Given the description of an element on the screen output the (x, y) to click on. 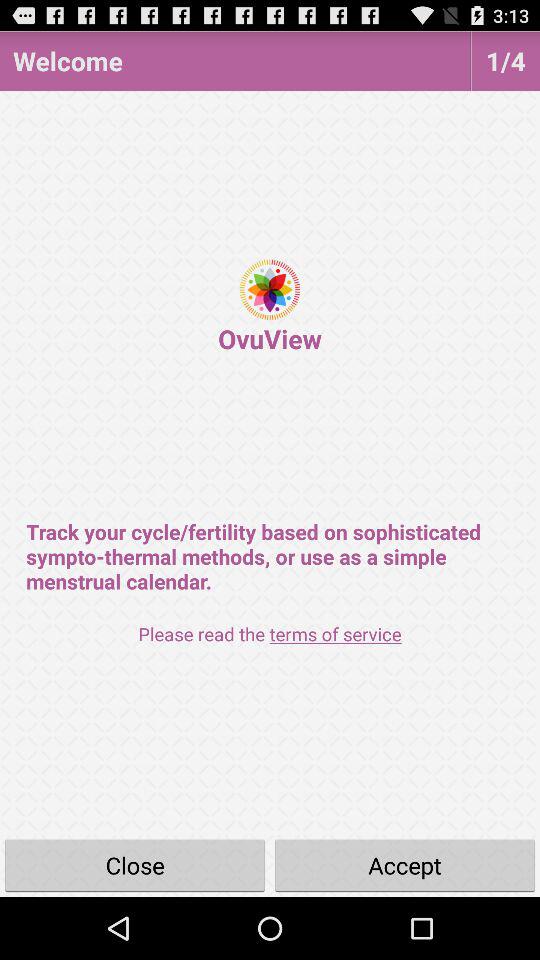
select the accept item (405, 864)
